Given the description of an element on the screen output the (x, y) to click on. 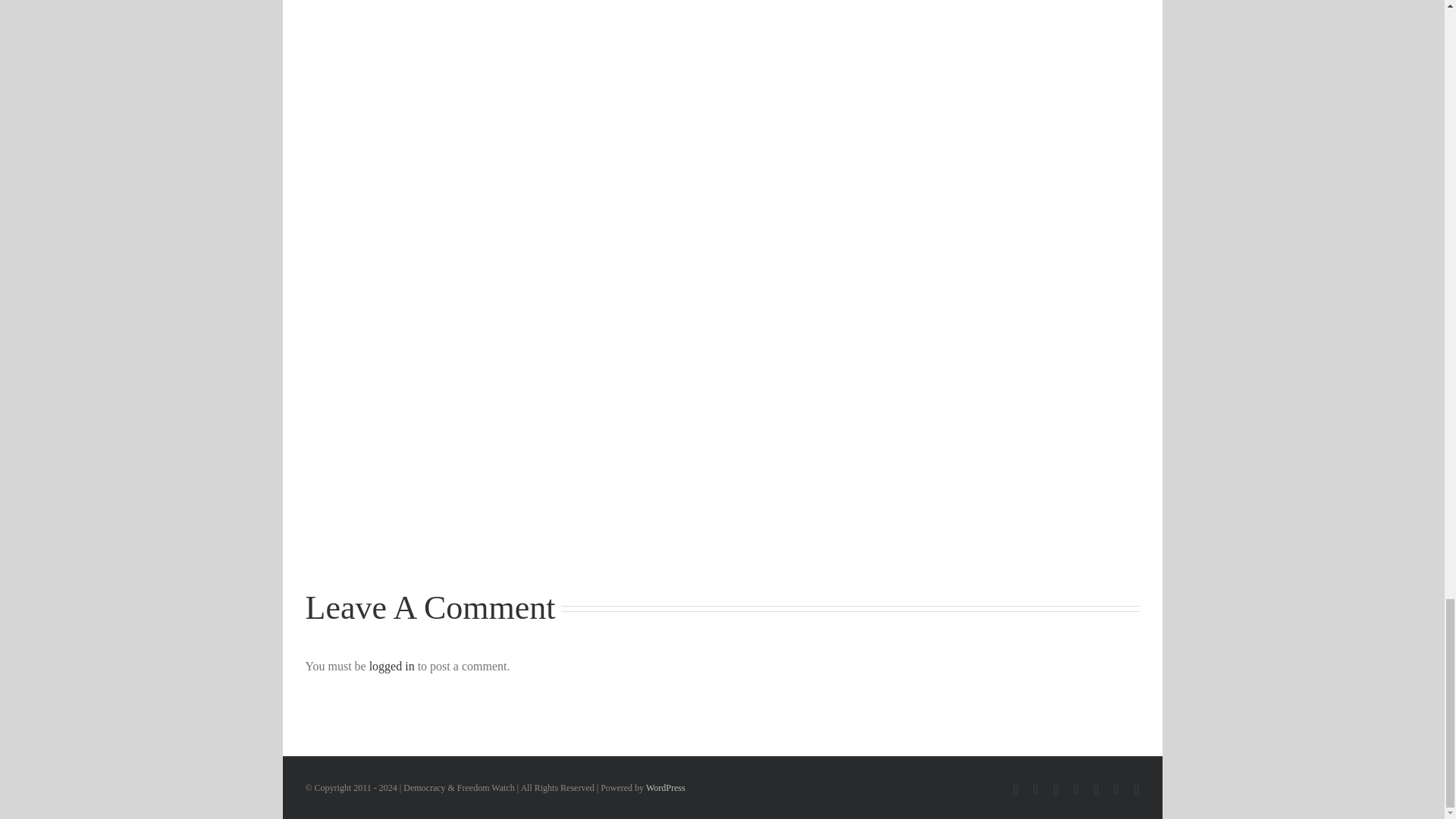
Vimeo (1076, 789)
Twitter (1056, 789)
Rss (1036, 789)
Instagram (1096, 789)
Dribbble (1137, 789)
Facebook (1015, 789)
Pinterest (1116, 789)
